Given the description of an element on the screen output the (x, y) to click on. 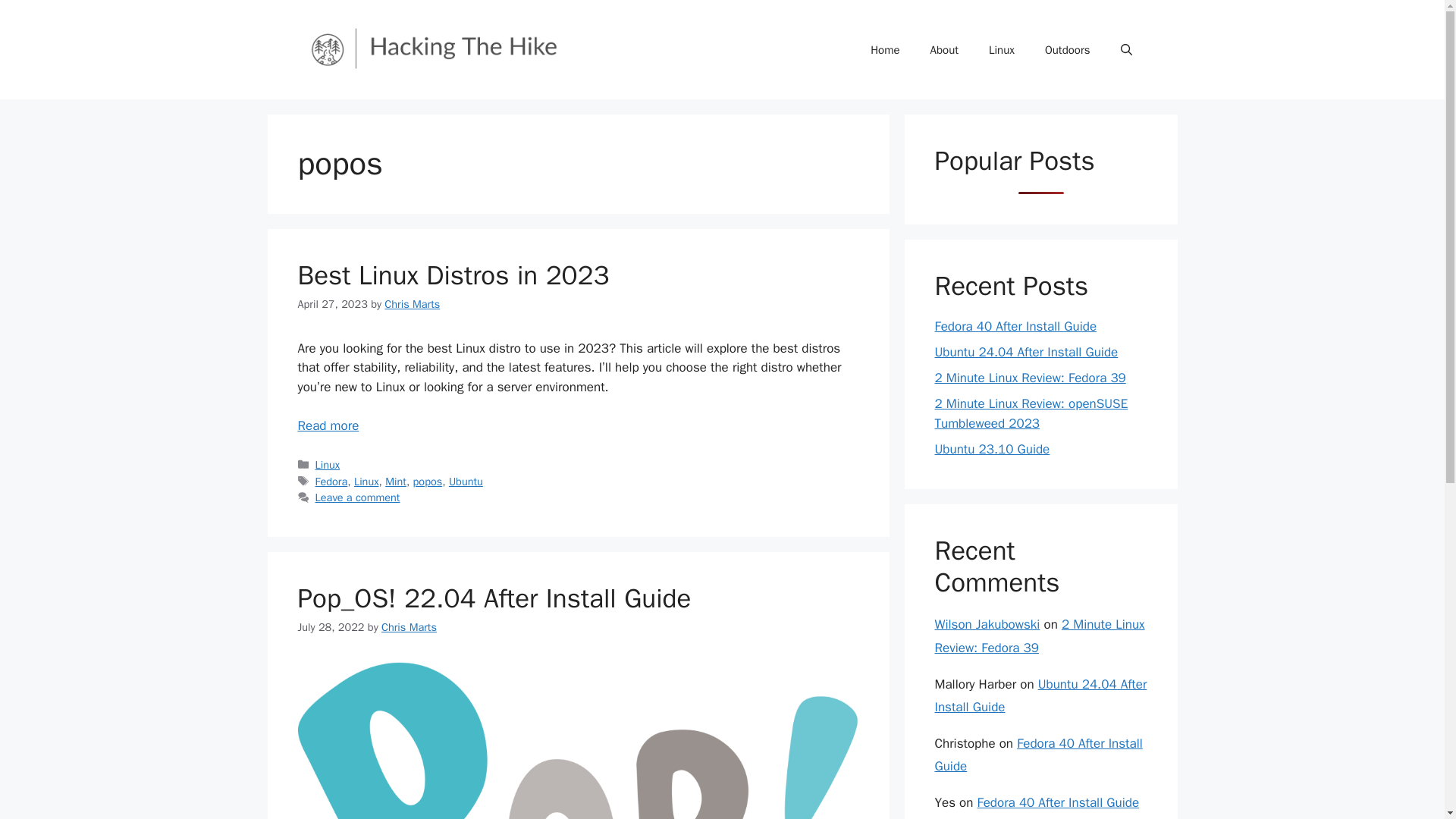
Outdoors (1067, 49)
Ubuntu 24.04 After Install Guide (1040, 695)
Fedora (331, 481)
Linux (365, 481)
Fedora 40 After Install Guide (1058, 802)
Ubuntu 23.10 Guide (991, 449)
Ubuntu (465, 481)
2 Minute Linux Review: Fedora 39 (1029, 377)
Chris Marts (411, 304)
Linux (327, 464)
